Given the description of an element on the screen output the (x, y) to click on. 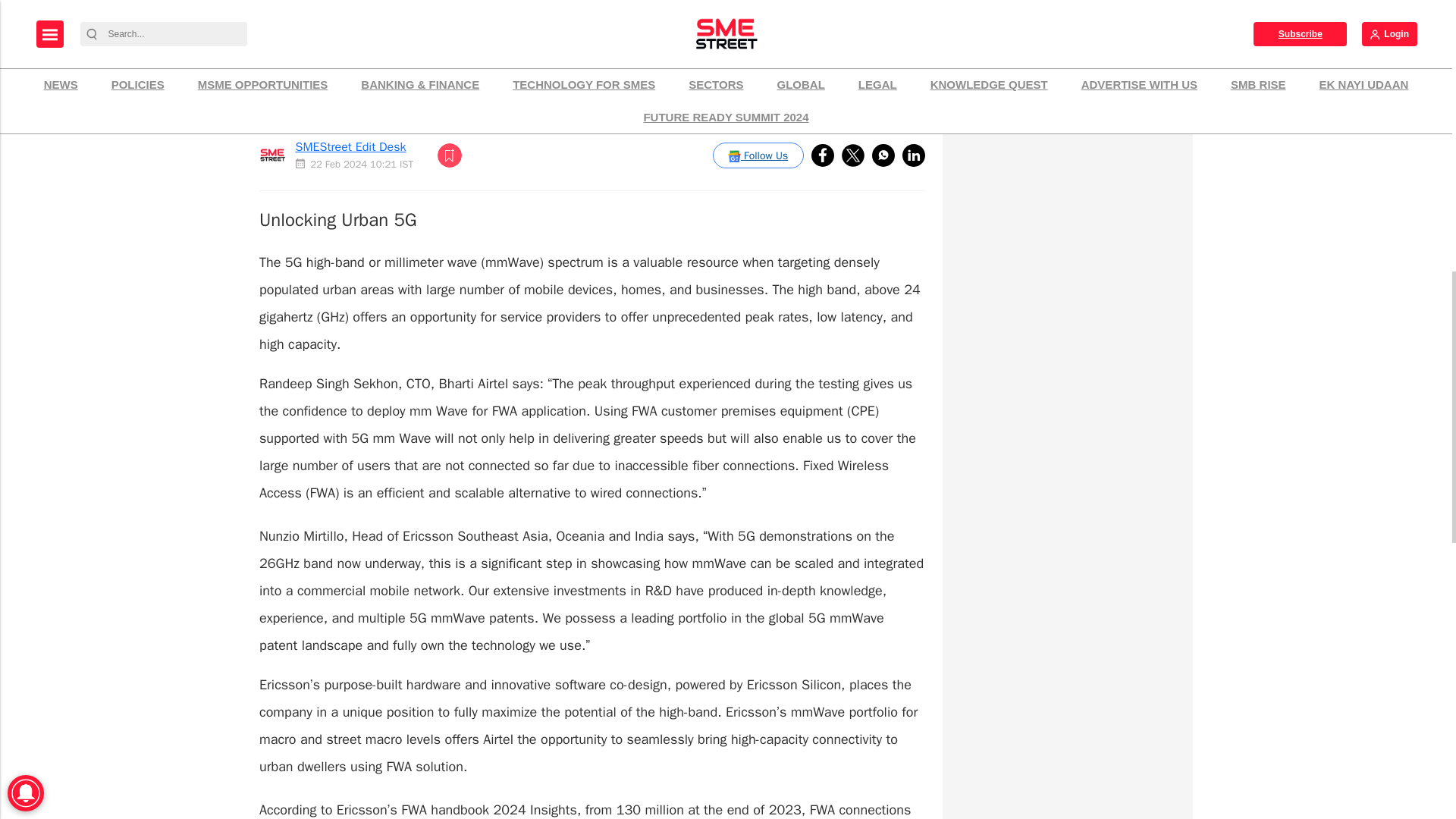
3rd party ad content (1066, 667)
3rd party ad content (1066, 492)
3rd party ad content (1066, 301)
3rd party ad content (1066, 113)
3rd party ad content (1066, 773)
